Given the description of an element on the screen output the (x, y) to click on. 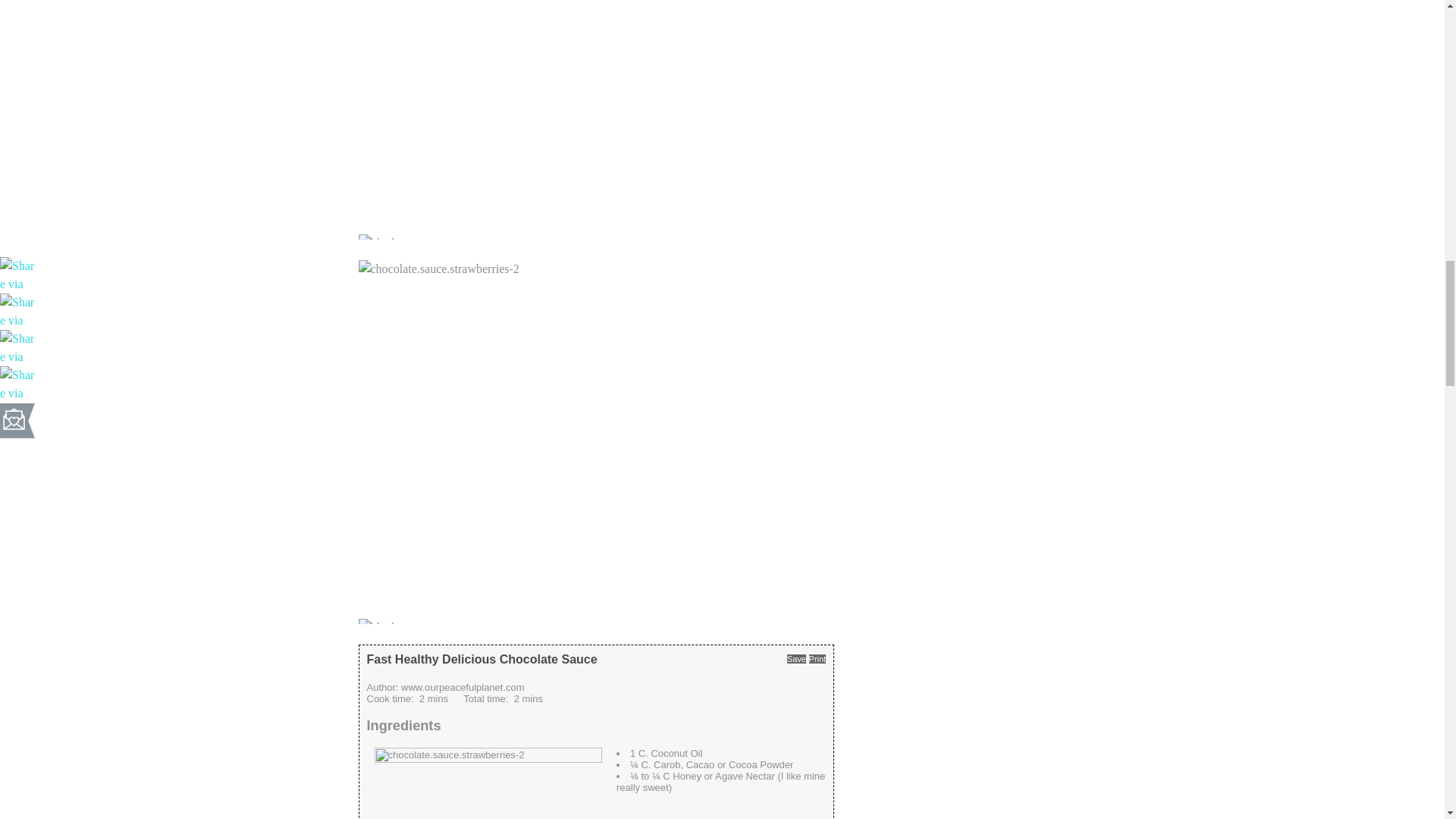
chocolate.sauce.strawberries-2 (488, 783)
